Given the description of an element on the screen output the (x, y) to click on. 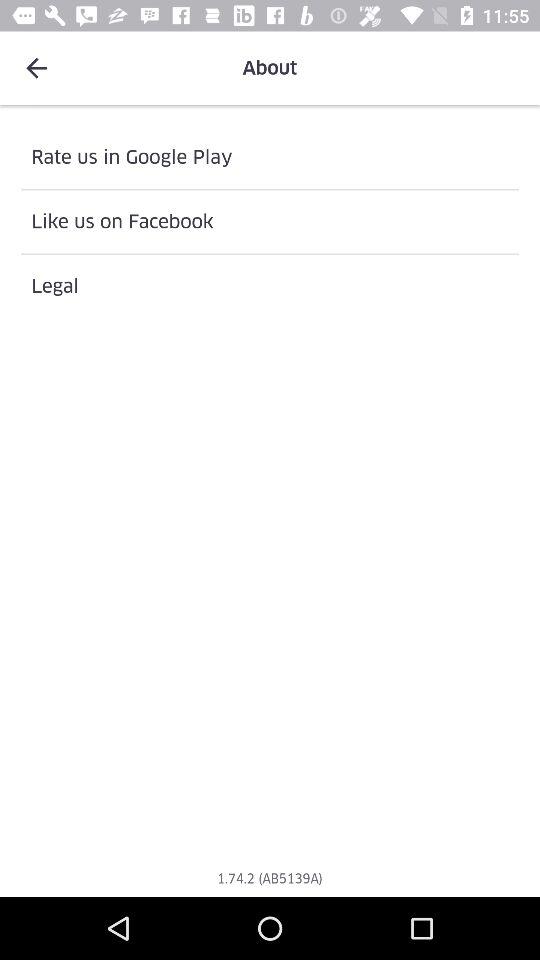
turn off icon above rate us in item (36, 68)
